Given the description of an element on the screen output the (x, y) to click on. 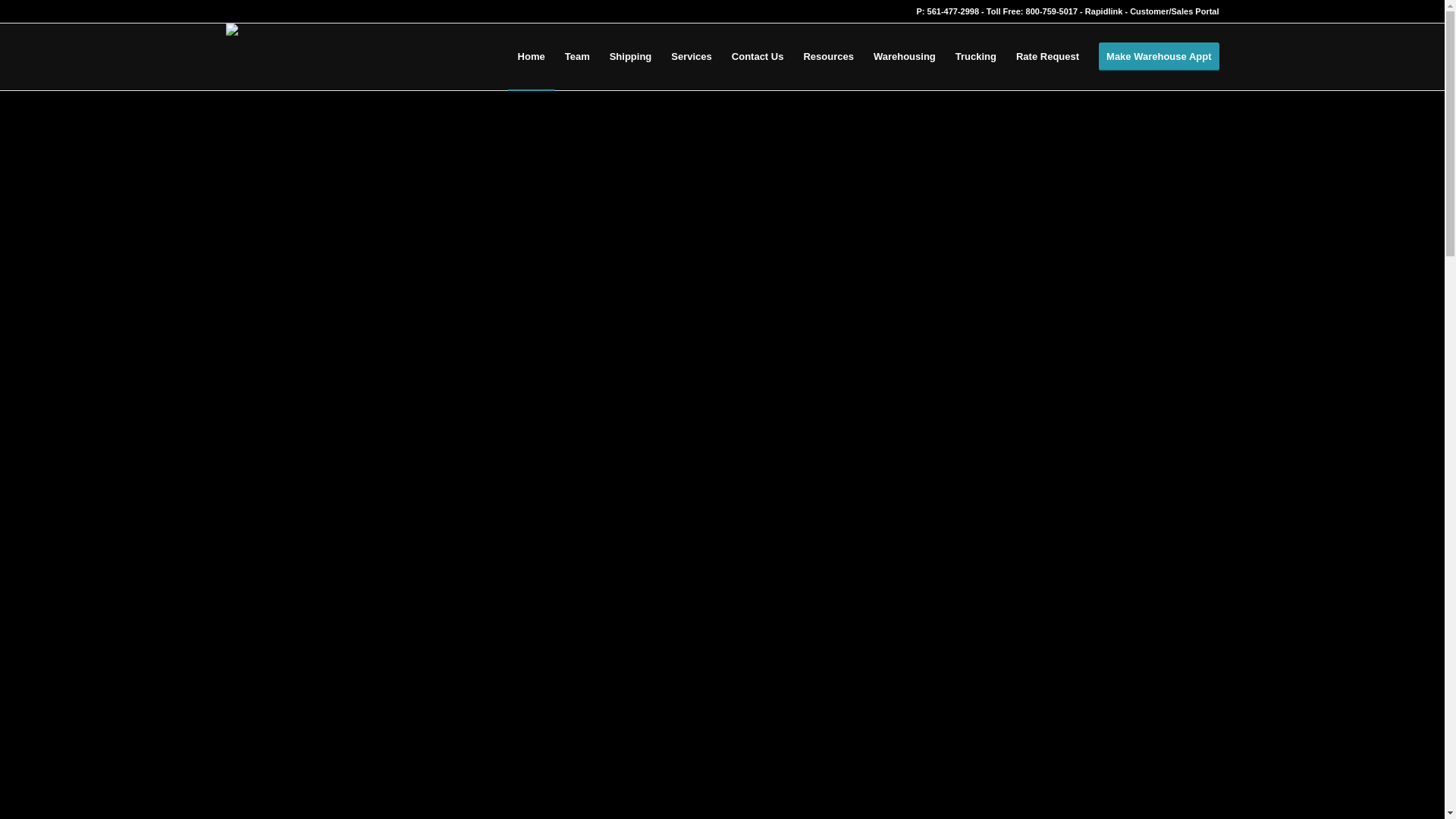
Warehousing (903, 56)
Resources (828, 56)
Trucking (975, 56)
Home (531, 56)
Rate Request (1047, 56)
Team (576, 56)
Shipping (630, 56)
Services (691, 56)
Rapidlink (1103, 10)
Make Warehouse Appt (1153, 56)
Contact Us (757, 56)
